Given the description of an element on the screen output the (x, y) to click on. 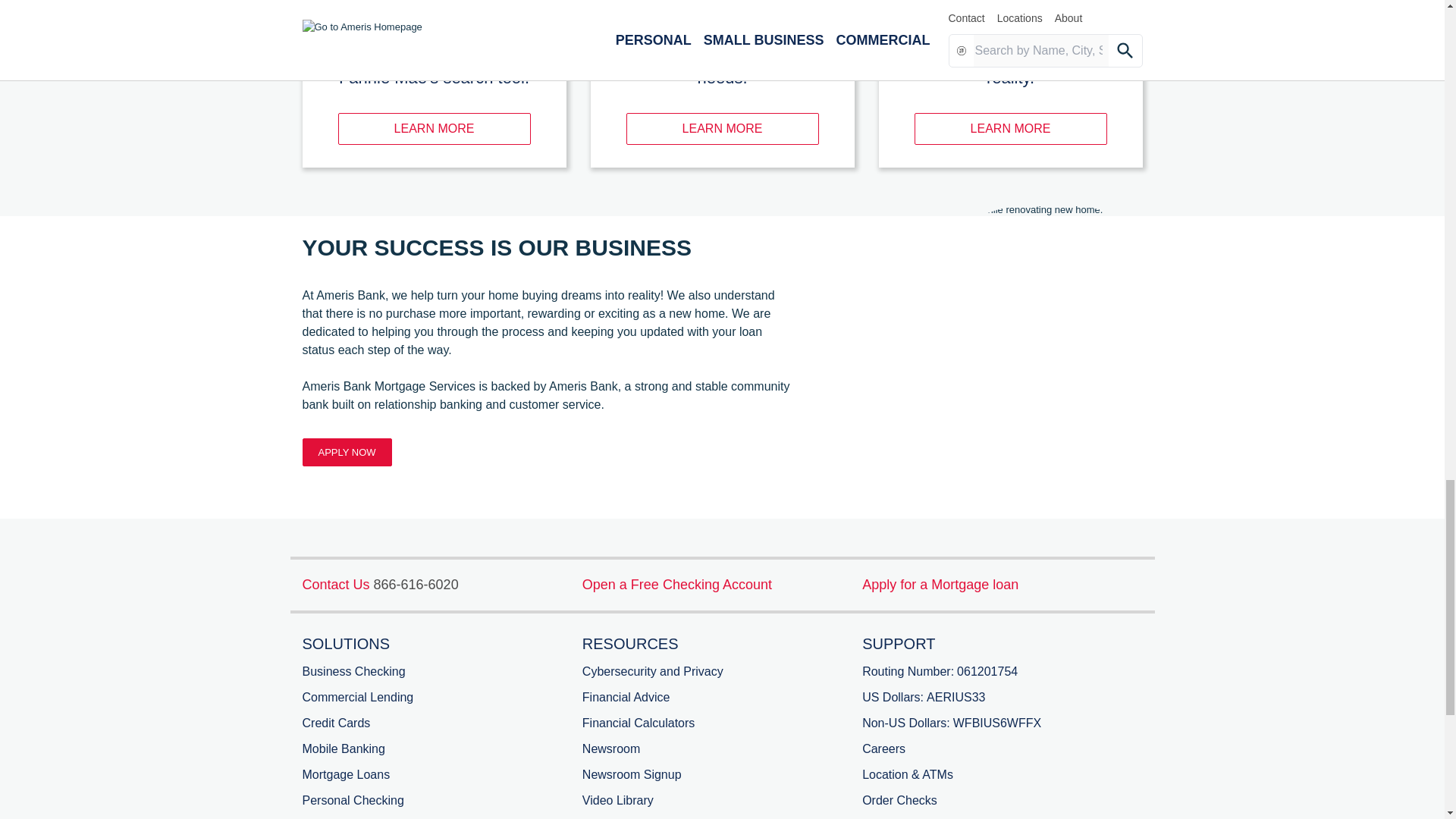
LEARN MORE (1010, 128)
LEARN MORE (434, 128)
LEARN MORE (722, 128)
